Given the description of an element on the screen output the (x, y) to click on. 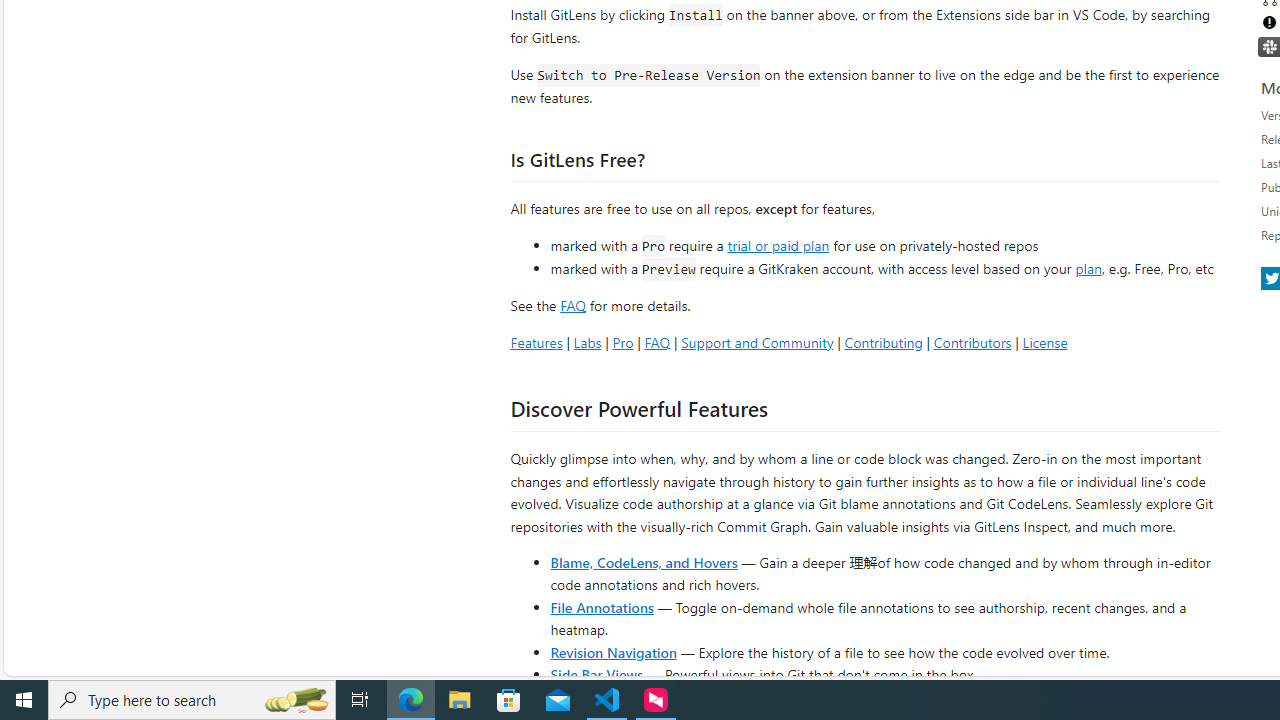
Blame, CodeLens, and Hovers (644, 561)
Revision Navigation (613, 651)
File Annotations (602, 606)
